Given the description of an element on the screen output the (x, y) to click on. 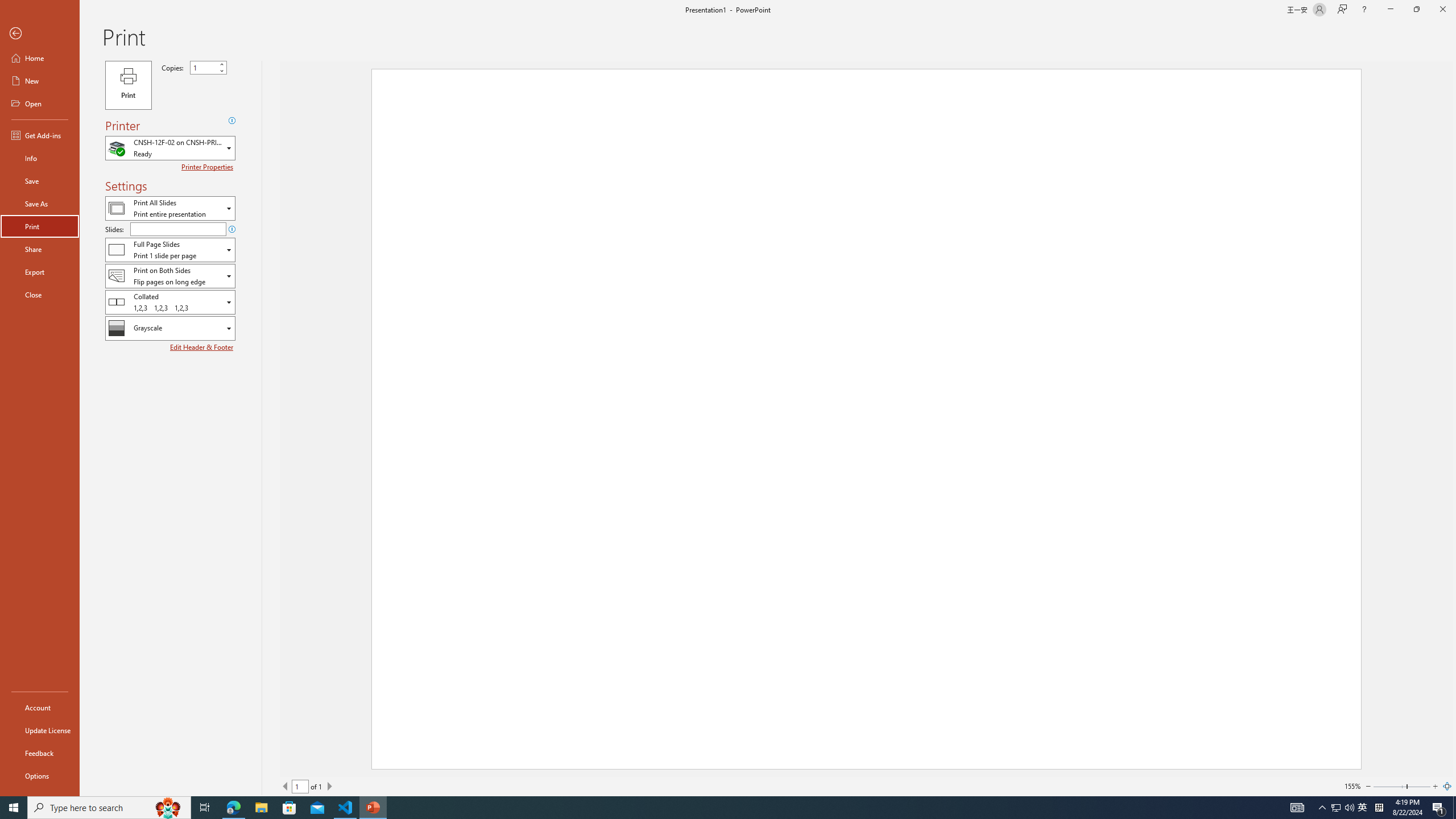
Print (127, 84)
Page left (1389, 786)
Save As (40, 203)
Print What (169, 208)
Which Printer (169, 147)
Printer Properties (208, 166)
Copies (208, 67)
Options (40, 775)
